Given the description of an element on the screen output the (x, y) to click on. 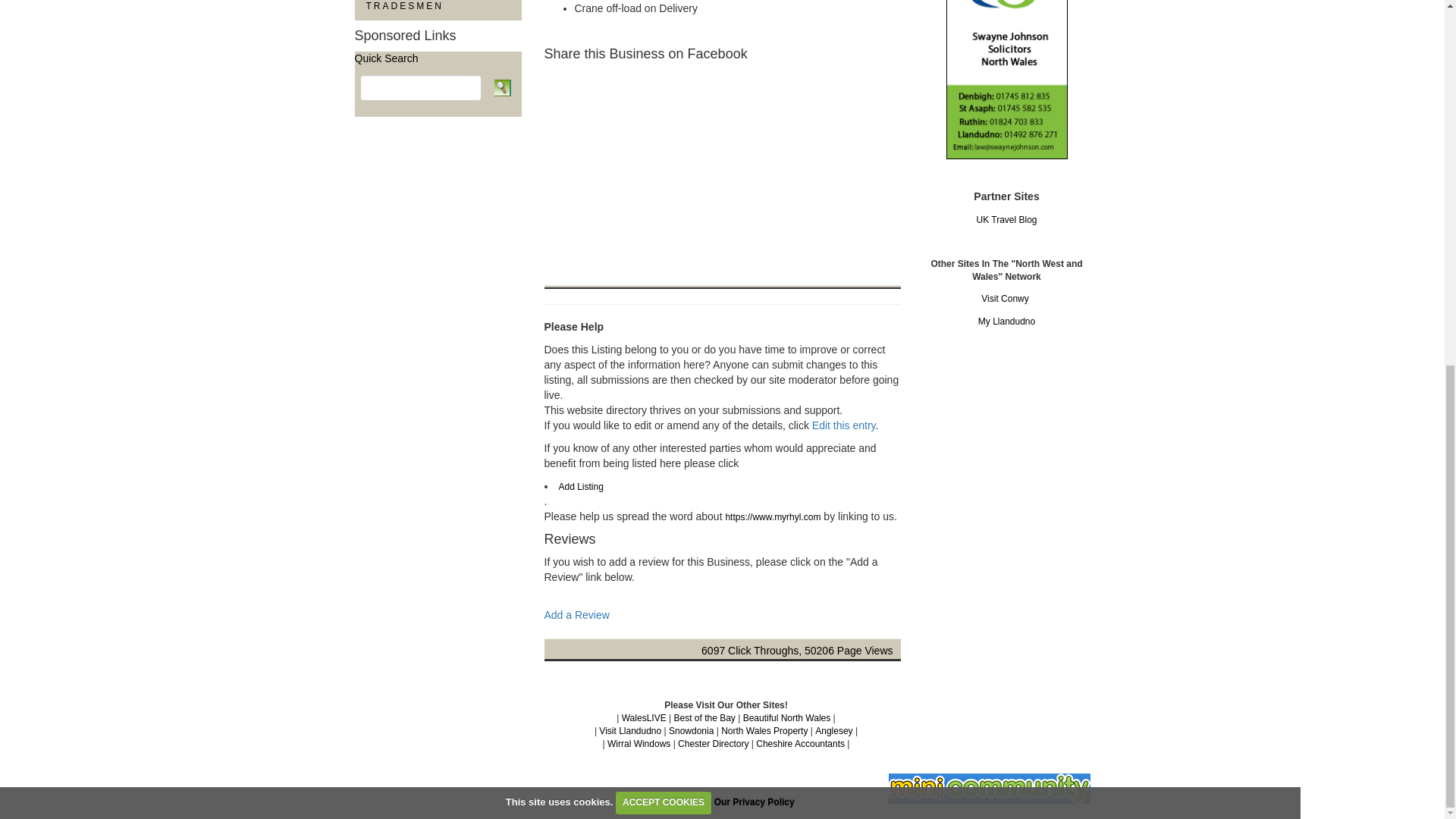
Snowdonia (690, 730)
Edit this entry (844, 425)
Visit Conwy (1004, 298)
ACCEPT COOKIES (663, 146)
Best of the Bay (703, 717)
UK Travel Blog (1005, 219)
Add Listing (579, 486)
Visit Llandudno (629, 730)
My Llandudno (1006, 321)
TRADESMEN (438, 10)
Swayne Johnson Solicitors North Wales (1006, 44)
Beautiful North Wales (786, 717)
Add a Review (577, 614)
Our Privacy Policy (754, 145)
WalesLIVE (643, 717)
